Given the description of an element on the screen output the (x, y) to click on. 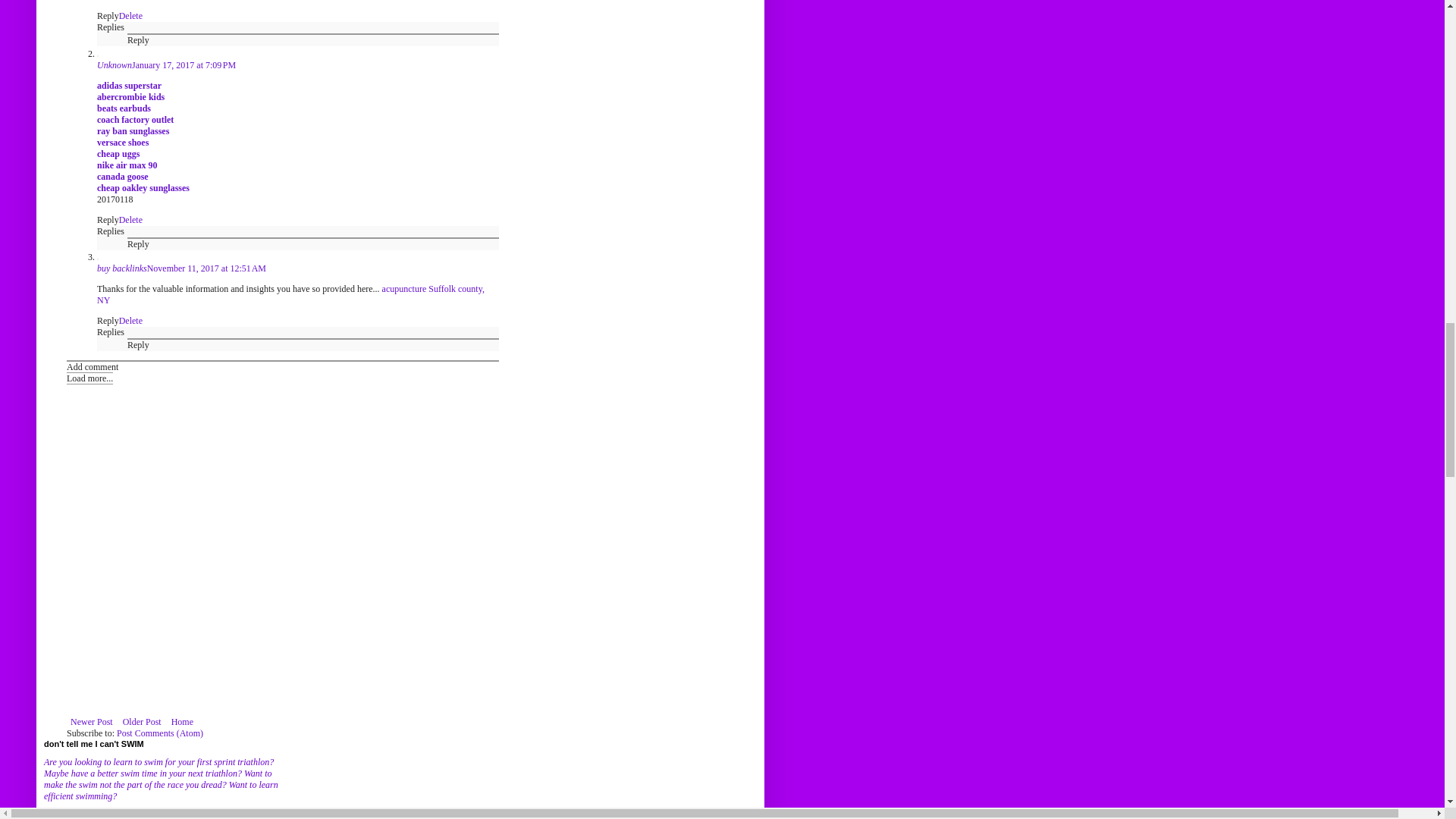
adidas superstar (129, 85)
Reply (108, 15)
Reply (138, 40)
Unknown (114, 64)
Older Post (142, 721)
Replies (110, 27)
Delete (130, 15)
abercrombie kids (130, 96)
Newer Post (91, 721)
beats earbuds (124, 108)
ray ban sunglasses (132, 131)
versace shoes (122, 142)
coach factory outlet (135, 119)
